Given the description of an element on the screen output the (x, y) to click on. 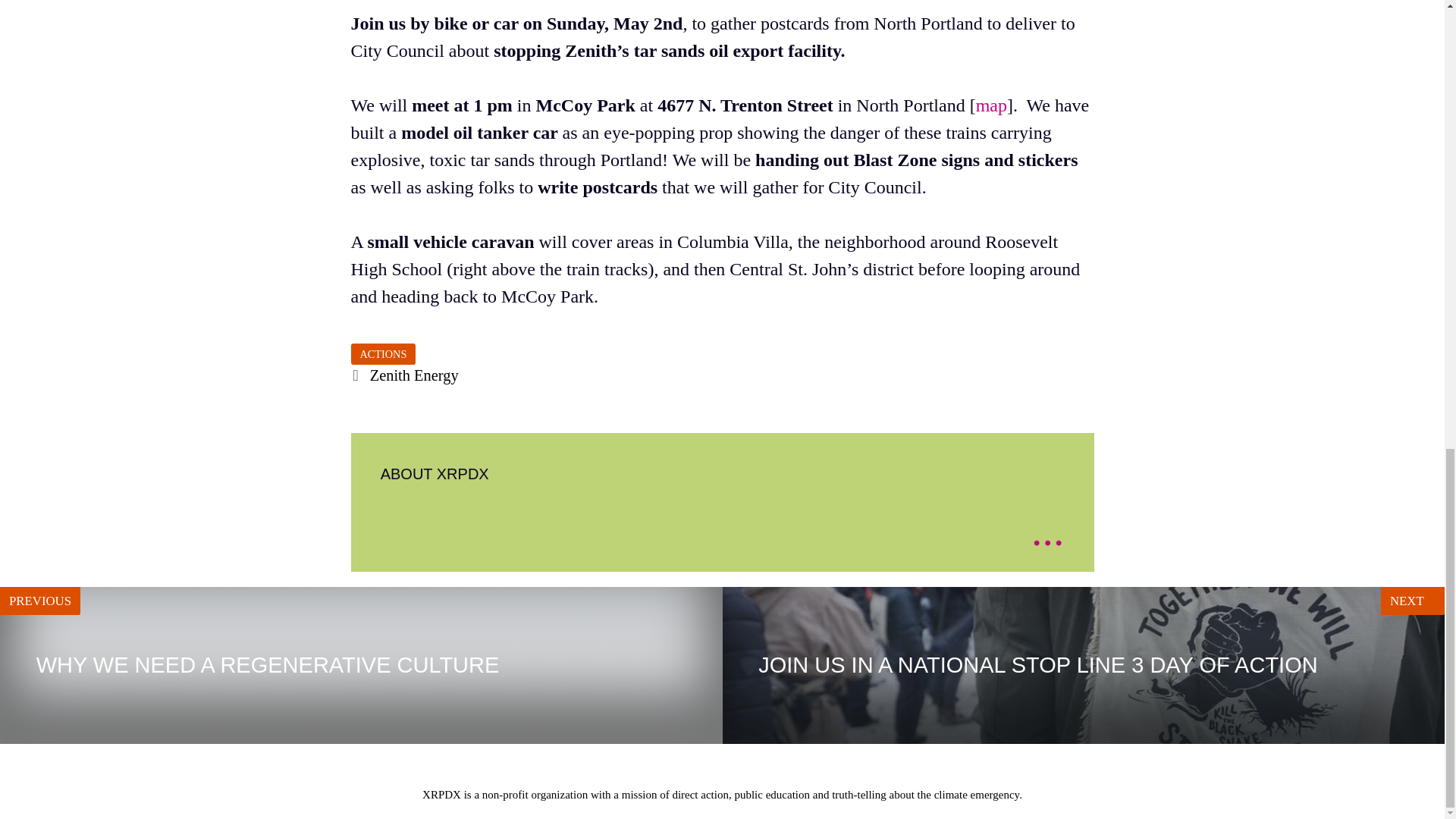
map (991, 105)
ACTIONS (382, 353)
Zenith Energy (413, 375)
Read more (1047, 531)
Scroll back to top (361, 665)
... (1406, 539)
